Given the description of an element on the screen output the (x, y) to click on. 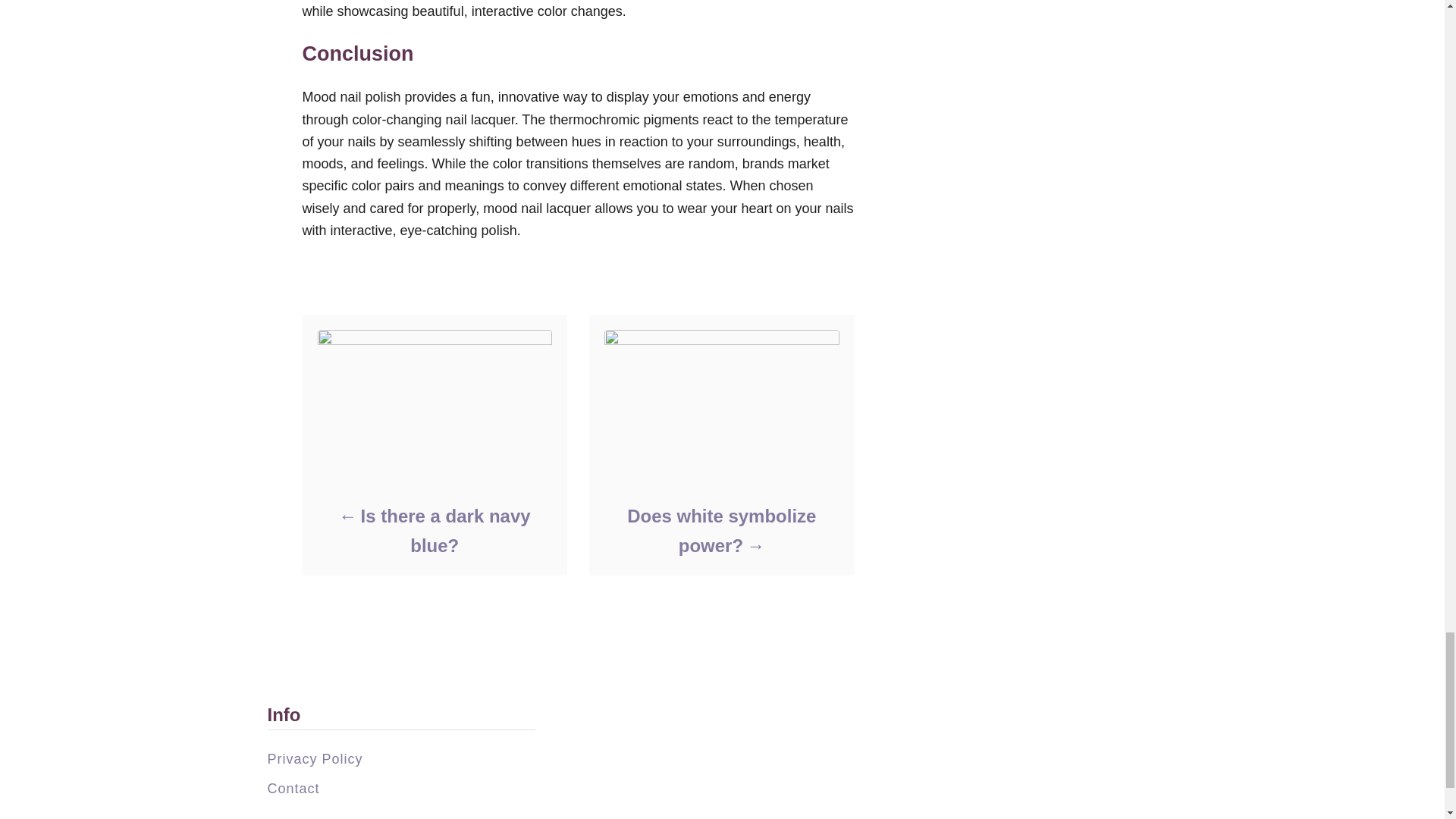
Contact (292, 788)
Is there a dark navy blue? (434, 530)
Privacy Policy (314, 758)
Does white symbolize power? (721, 530)
